Given the description of an element on the screen output the (x, y) to click on. 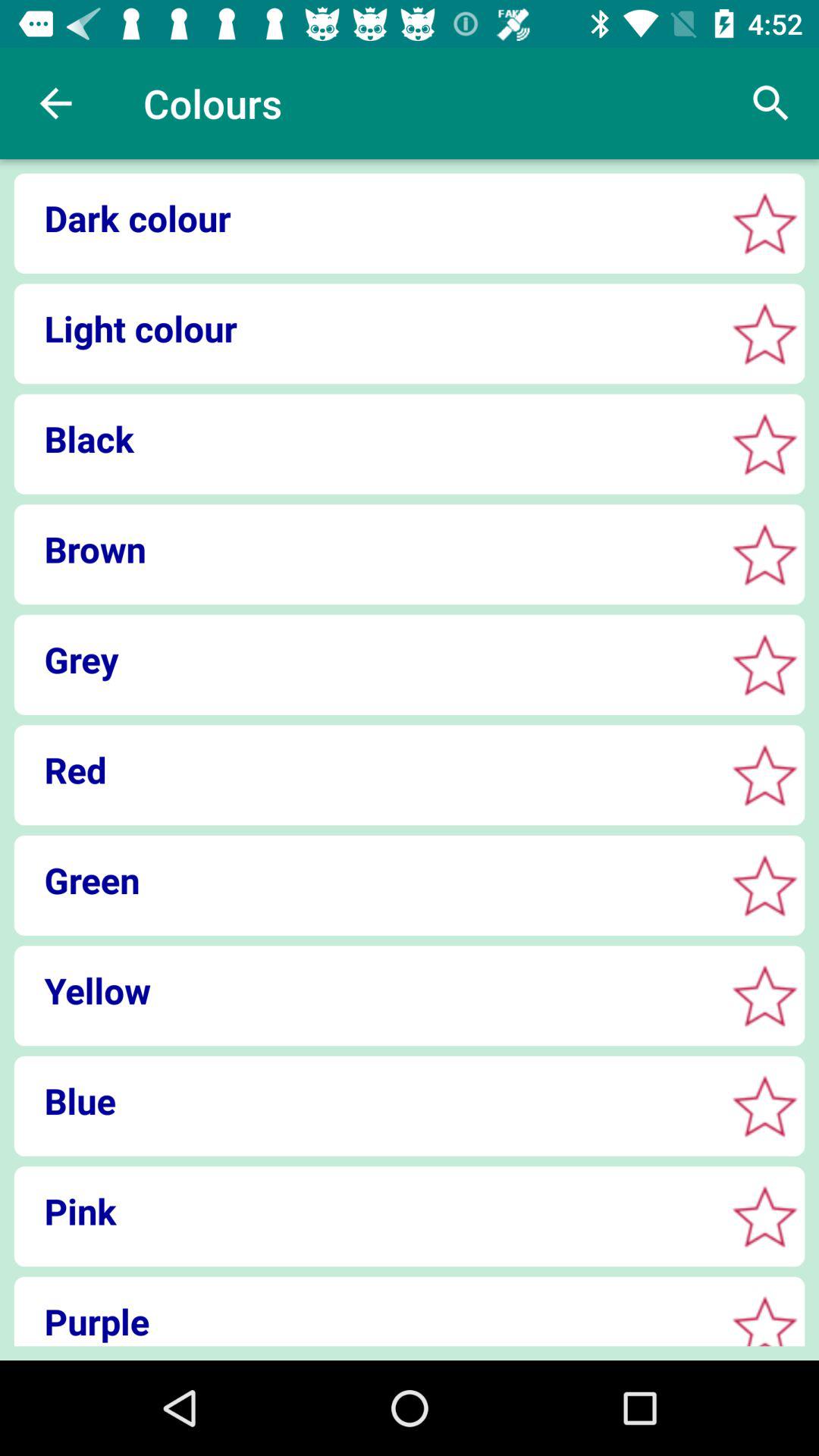
swipe to green (364, 879)
